Given the description of an element on the screen output the (x, y) to click on. 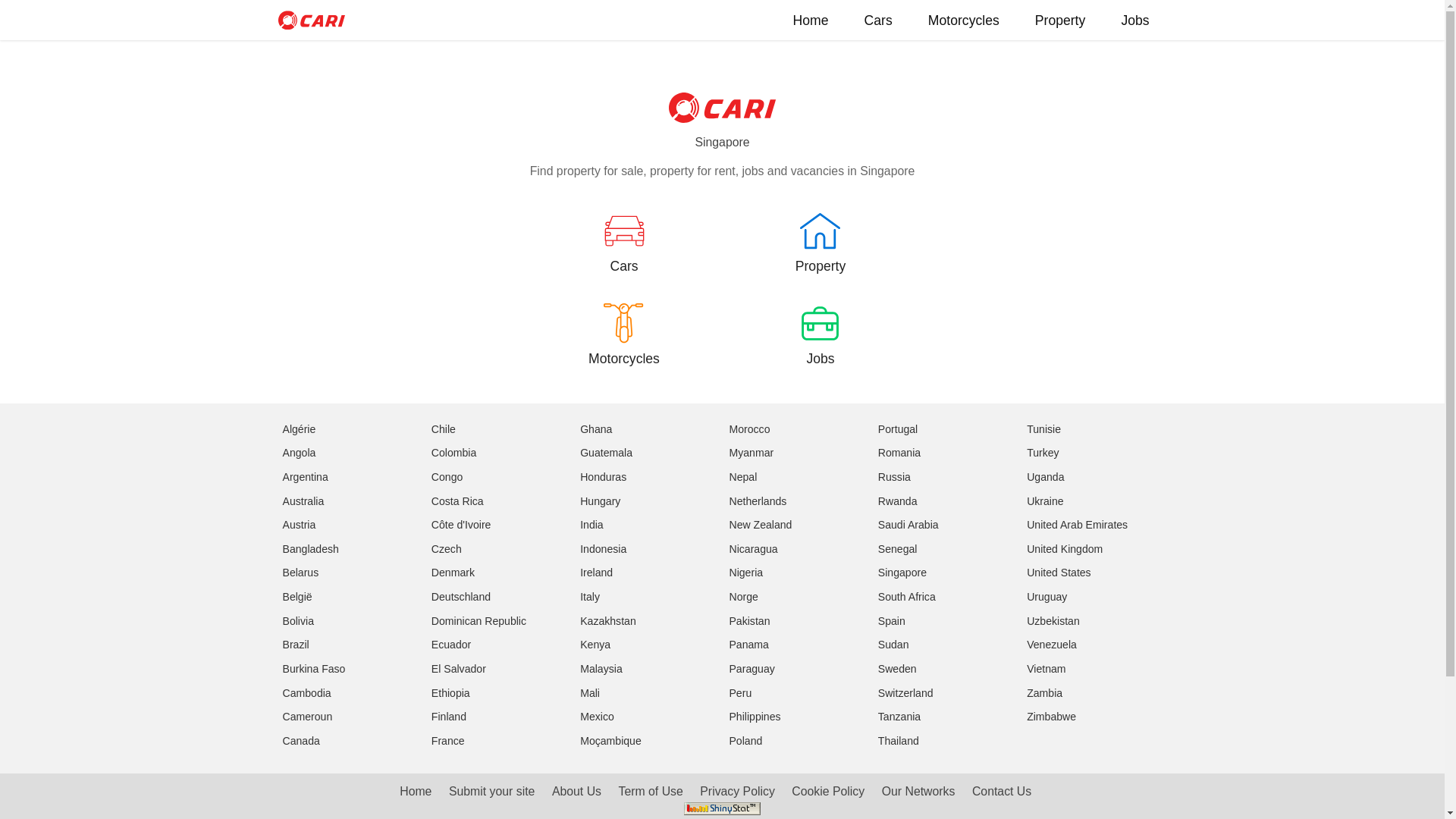
Rwanda Element type: text (897, 500)
Our Networks Element type: text (918, 790)
Property Element type: text (820, 257)
Deutschland Element type: text (460, 596)
Venezuela Element type: text (1051, 644)
Ecuador Element type: text (450, 644)
Property Element type: text (1059, 20)
Pakistan Element type: text (748, 621)
United Kingdom Element type: text (1064, 548)
Cameroun Element type: text (307, 716)
Nepal Element type: text (742, 476)
About Us Element type: text (576, 790)
New Zealand Element type: text (759, 524)
Chile Element type: text (443, 429)
Hungary Element type: text (600, 500)
Brazil Element type: text (295, 644)
Angola Element type: text (298, 452)
Honduras Element type: text (603, 476)
Czech Element type: text (446, 548)
Tanzania Element type: text (899, 716)
Home Element type: text (810, 20)
Finland Element type: text (448, 716)
Costa Rica Element type: text (457, 500)
Norge Element type: text (742, 596)
Jobs Element type: text (1135, 20)
Motorcycles Element type: text (623, 350)
Panama Element type: text (748, 644)
Ireland Element type: text (596, 572)
Home Element type: text (415, 790)
Uzbekistan Element type: text (1052, 621)
Contact Us Element type: text (1001, 790)
Ghana Element type: text (595, 429)
Peru Element type: text (739, 693)
Kenya Element type: text (595, 644)
Portugal Element type: text (897, 429)
Paraguay Element type: text (751, 668)
Saudi Arabia Element type: text (908, 524)
Cookie Policy Element type: text (827, 790)
Zimbabwe Element type: text (1051, 716)
Argentina Element type: text (304, 476)
Austria Element type: text (298, 524)
Cambodia Element type: text (306, 693)
South Africa Element type: text (906, 596)
Canada Element type: text (300, 740)
Jobs Element type: text (820, 350)
Poland Element type: text (745, 740)
Senegal Element type: text (897, 548)
India Element type: text (591, 524)
Turkey Element type: text (1042, 452)
Indonesia Element type: text (603, 548)
Colombia Element type: text (453, 452)
United Arab Emirates Element type: text (1076, 524)
Morocco Element type: text (748, 429)
France Element type: text (447, 740)
Mali Element type: text (589, 693)
Congo Element type: text (447, 476)
Vietnam Element type: text (1045, 668)
Cars Element type: text (878, 20)
Term of Use Element type: text (650, 790)
Switzerland Element type: text (905, 693)
Sudan Element type: text (893, 644)
Italy Element type: text (589, 596)
Zambia Element type: text (1044, 693)
El Salvador Element type: text (458, 668)
Mexico Element type: text (597, 716)
Dominican Republic Element type: text (478, 621)
Malaysia Element type: text (601, 668)
Belarus Element type: text (300, 572)
Singapore Element type: text (902, 572)
Cars Element type: text (623, 257)
Uganda Element type: text (1044, 476)
Ethiopia Element type: text (450, 693)
Kazakhstan Element type: text (608, 621)
Thailand Element type: text (898, 740)
Guatemala Element type: text (606, 452)
Motorcycles Element type: text (963, 20)
Denmark Element type: text (452, 572)
Submit your site Element type: text (491, 790)
Sweden Element type: text (897, 668)
Russia Element type: text (894, 476)
Netherlands Element type: text (757, 500)
Australia Element type: text (302, 500)
Romania Element type: text (899, 452)
Uruguay Element type: text (1046, 596)
Bangladesh Element type: text (310, 548)
Ukraine Element type: text (1044, 500)
Spain Element type: text (891, 621)
Tunisie Element type: text (1043, 429)
United States Element type: text (1058, 572)
Philippines Element type: text (754, 716)
Privacy Policy Element type: text (737, 790)
Bolivia Element type: text (297, 621)
Nigeria Element type: text (745, 572)
Nicaragua Element type: text (752, 548)
Burkina Faso Element type: text (313, 668)
Myanmar Element type: text (750, 452)
